Given the description of an element on the screen output the (x, y) to click on. 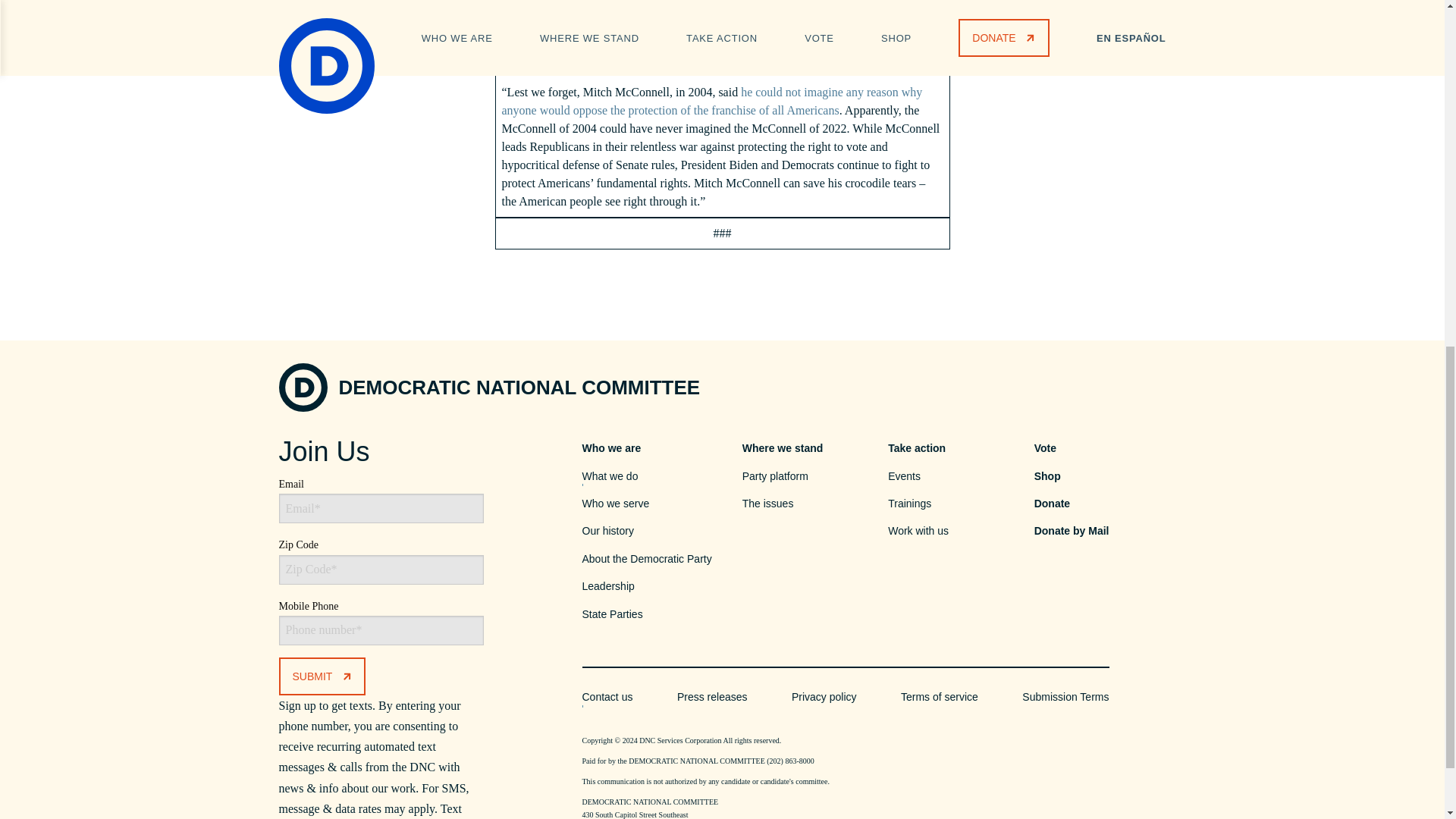
Livechat launcher icon (1406, 128)
